Given the description of an element on the screen output the (x, y) to click on. 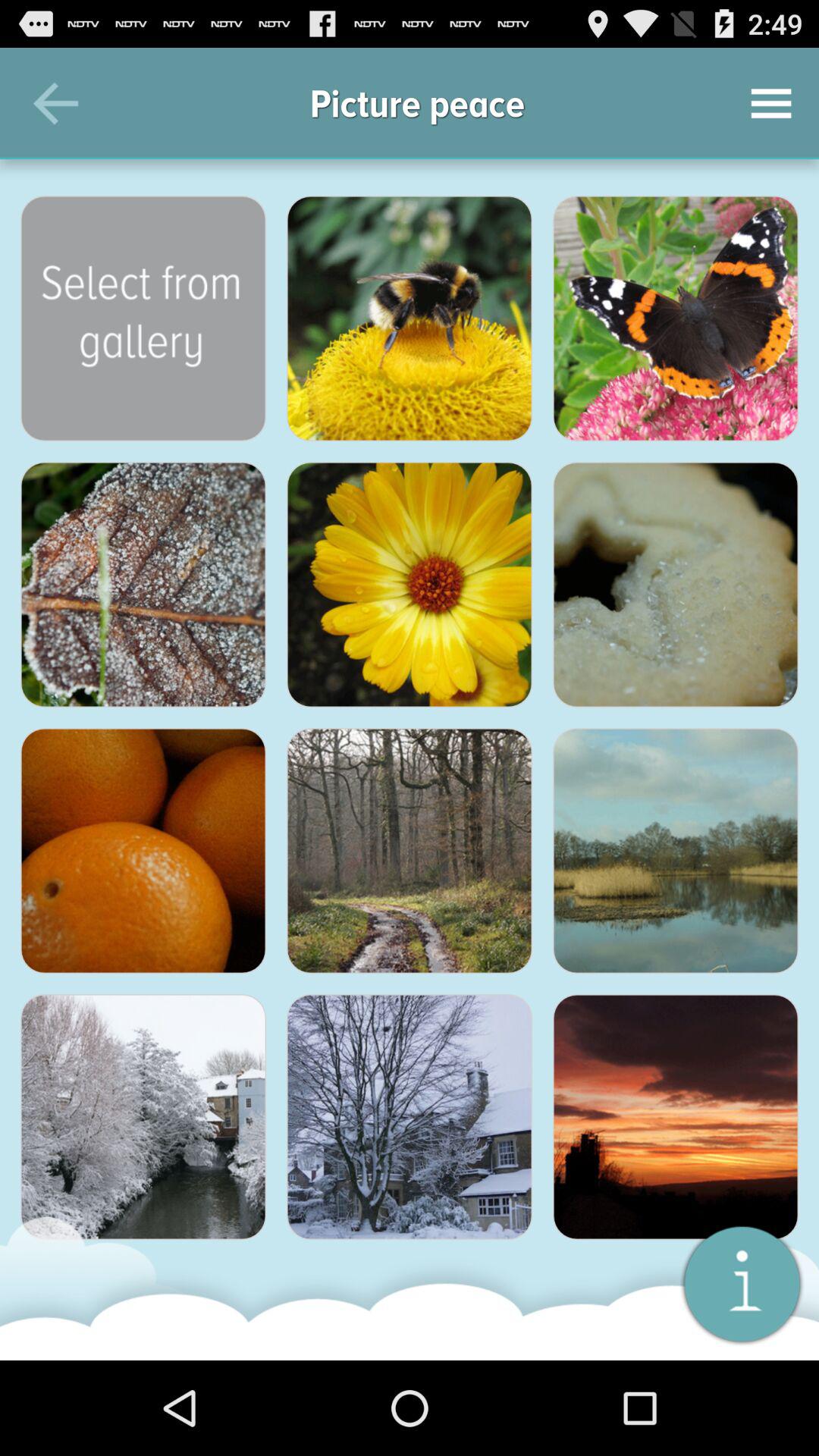
gallery image (675, 584)
